Given the description of an element on the screen output the (x, y) to click on. 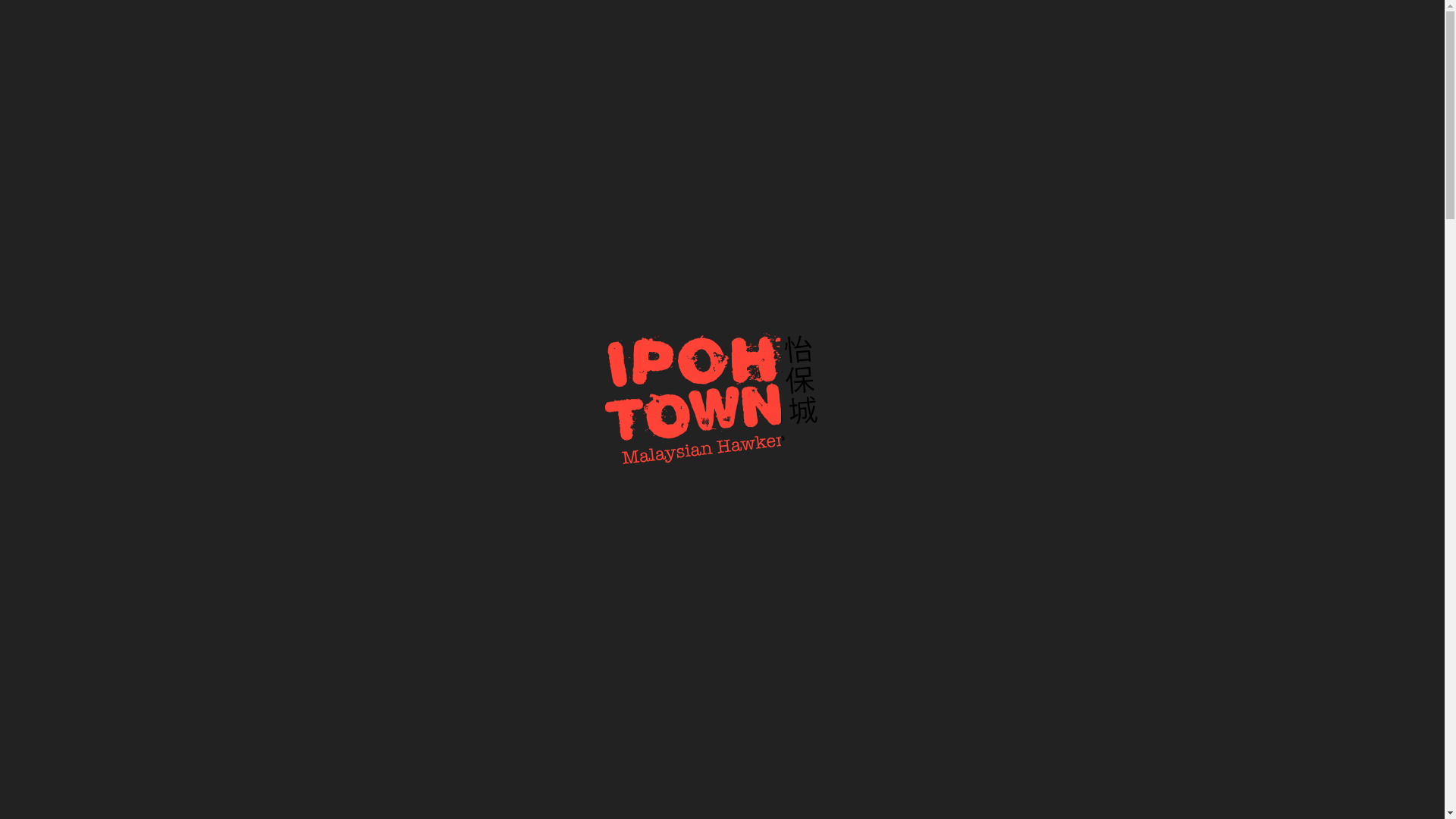
CONTACT Element type: text (1226, 24)
FIND A LOCATION Element type: text (1351, 24)
HOME Element type: text (810, 24)
ipohtown-available-on-hey-you Element type: hover (1181, 620)
IPOH HOME Element type: text (902, 24)
EXPERIENCE IPOH Element type: text (1029, 24)
MENU Element type: text (1139, 24)
GET DIRECTIONS Element type: text (633, 454)
logo-ipoh-town Element type: hover (115, 78)
ORDER ON HEYYOU Element type: text (803, 454)
